Given the description of an element on the screen output the (x, y) to click on. 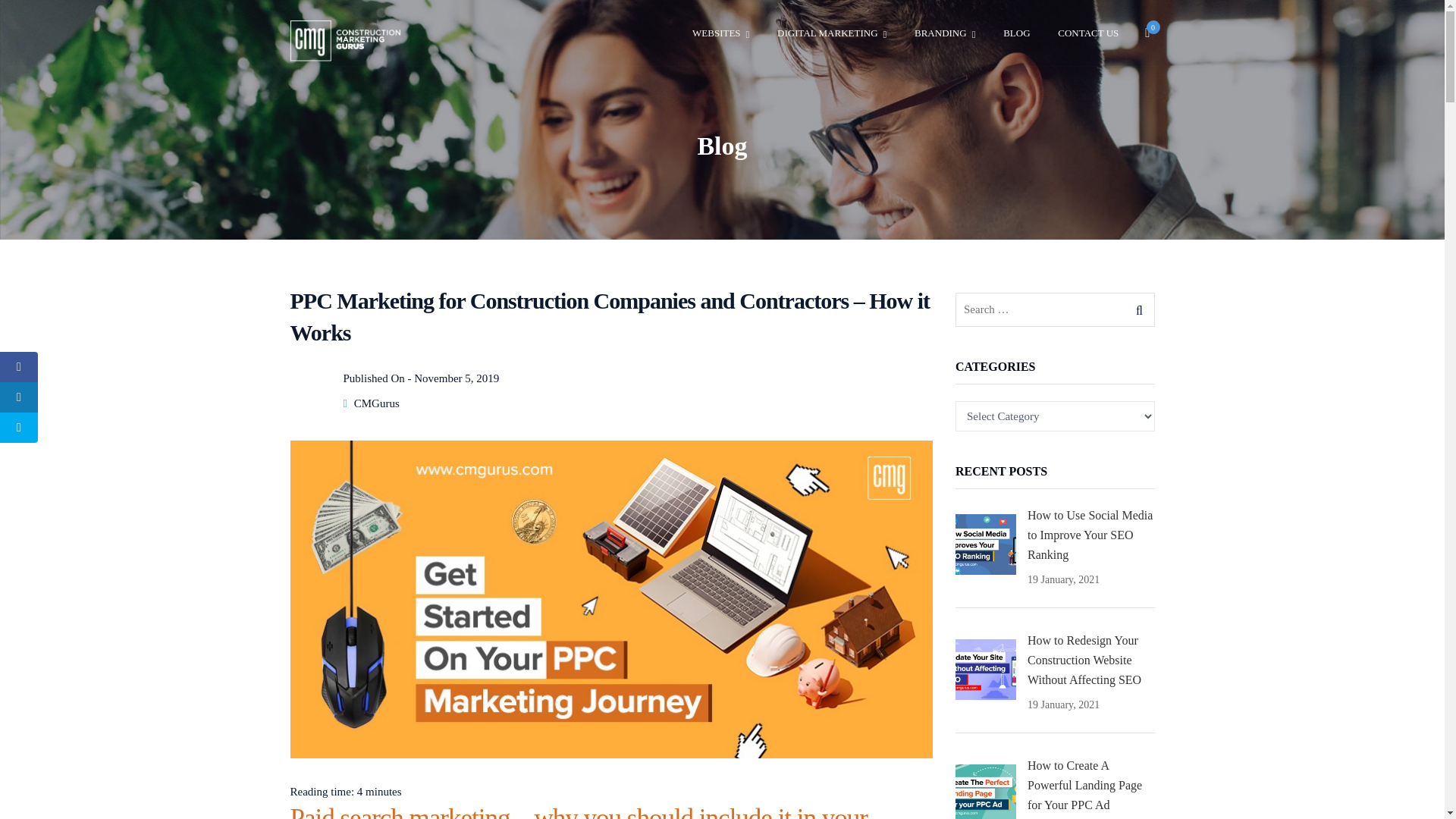
BRANDING (944, 33)
DIGITAL MARKETING (831, 33)
CONTACT US (1088, 33)
